Given the description of an element on the screen output the (x, y) to click on. 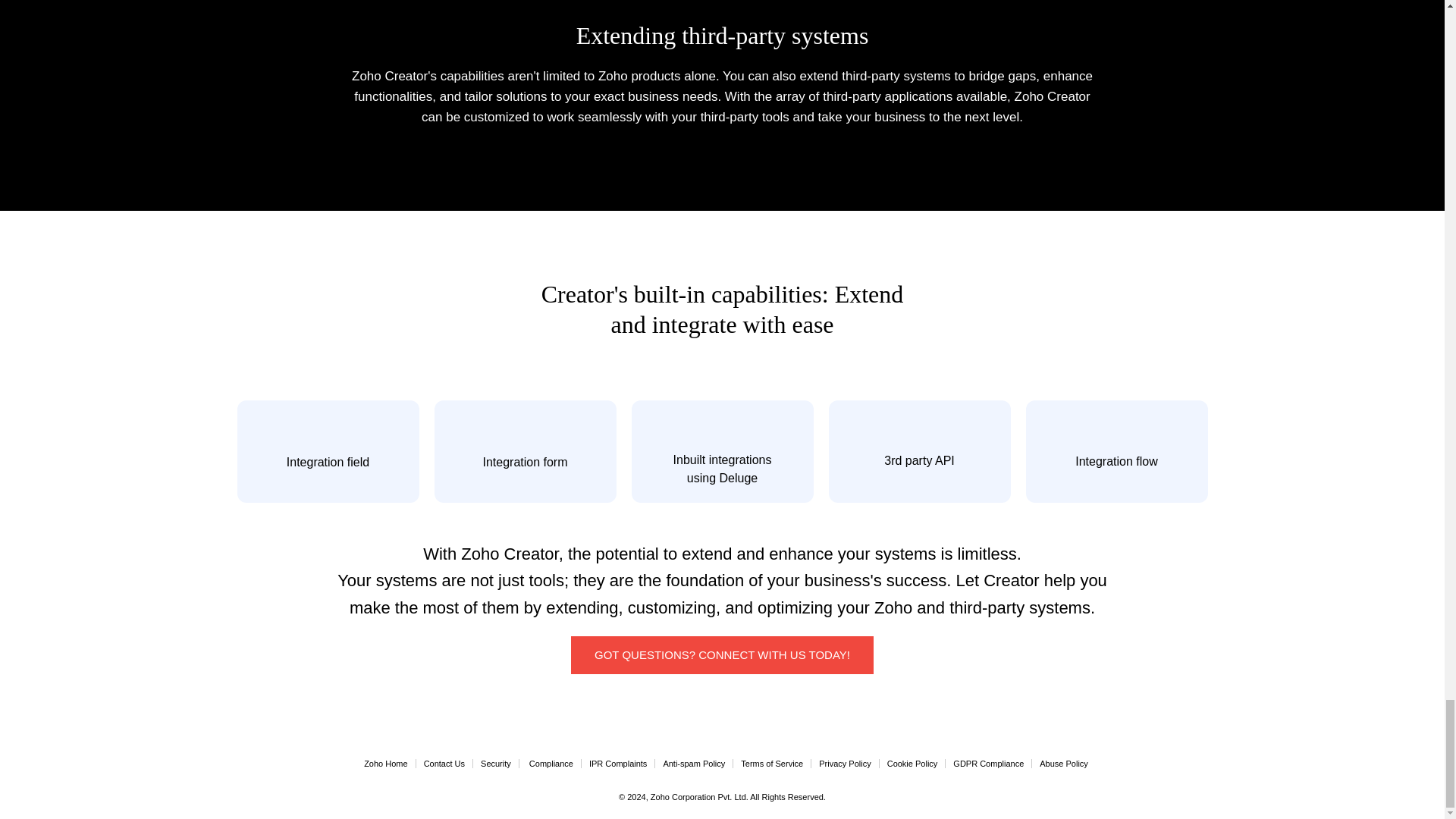
GOT QUESTIONS? CONNECT WITH US TODAY! (721, 655)
GDPR Compliance (988, 763)
Contact Us (443, 763)
Terms of Service (772, 763)
Abuse Policy (1063, 763)
Privacy Policy (844, 763)
Anti-spam Policy (693, 763)
Cookie Policy (911, 763)
IPR Complaints (617, 763)
Security (495, 763)
Compliance (551, 763)
Zoho Home (385, 763)
